Given the description of an element on the screen output the (x, y) to click on. 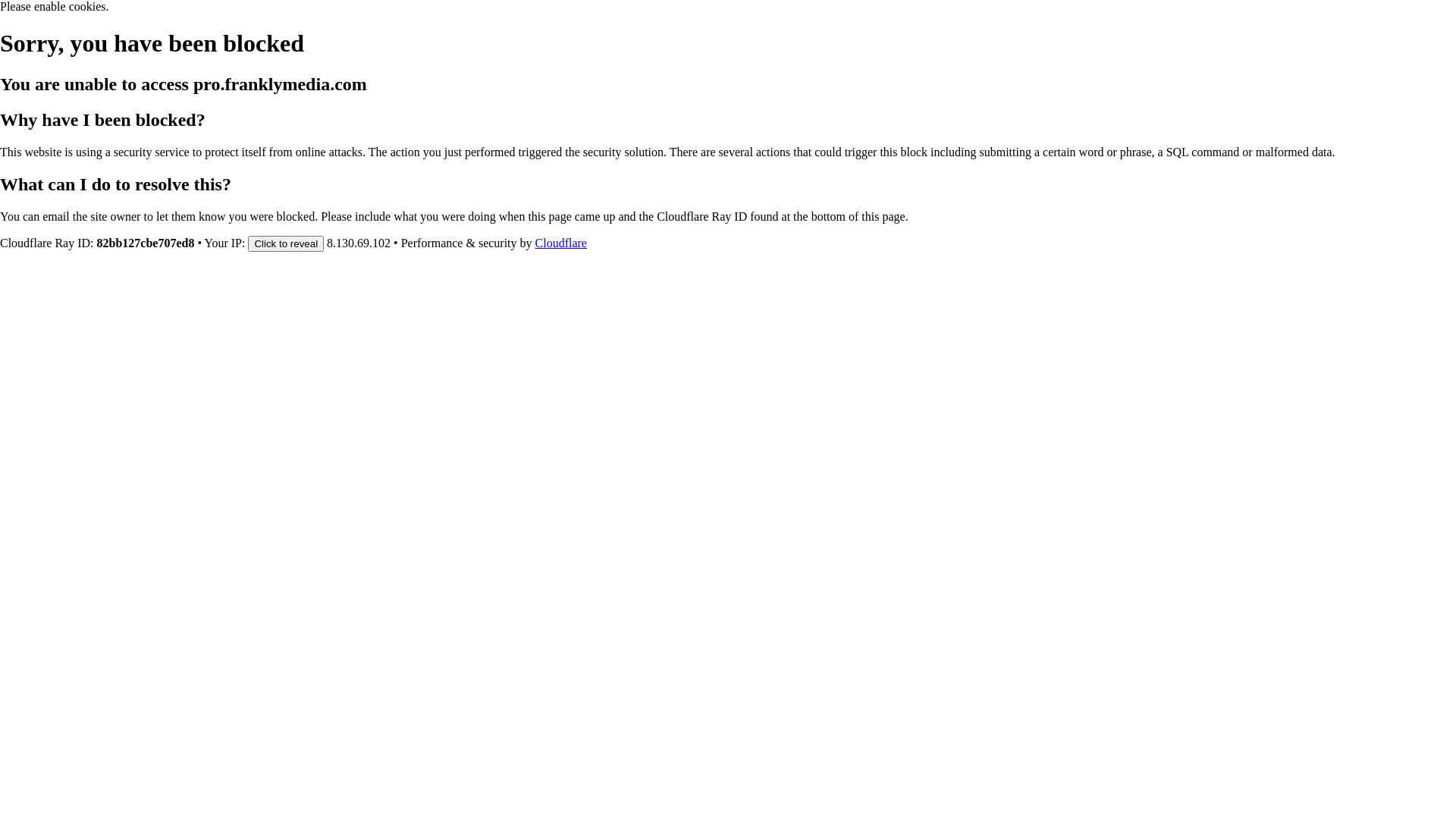
Click to reveal Element type: text (285, 243)
Cloudflare Element type: text (560, 242)
